Given the description of an element on the screen output the (x, y) to click on. 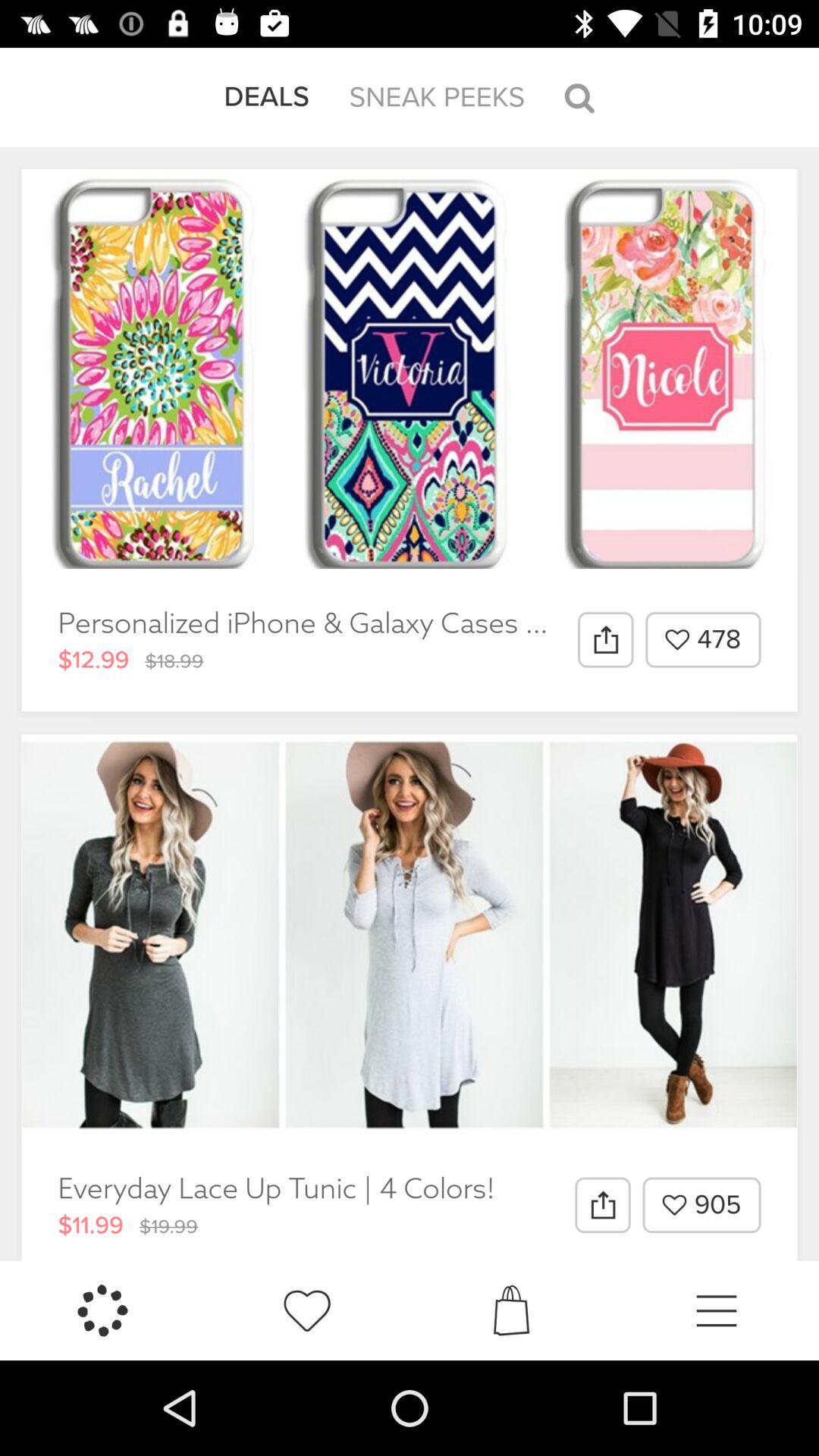
press the item next to the sneak peeks item (266, 97)
